Given the description of an element on the screen output the (x, y) to click on. 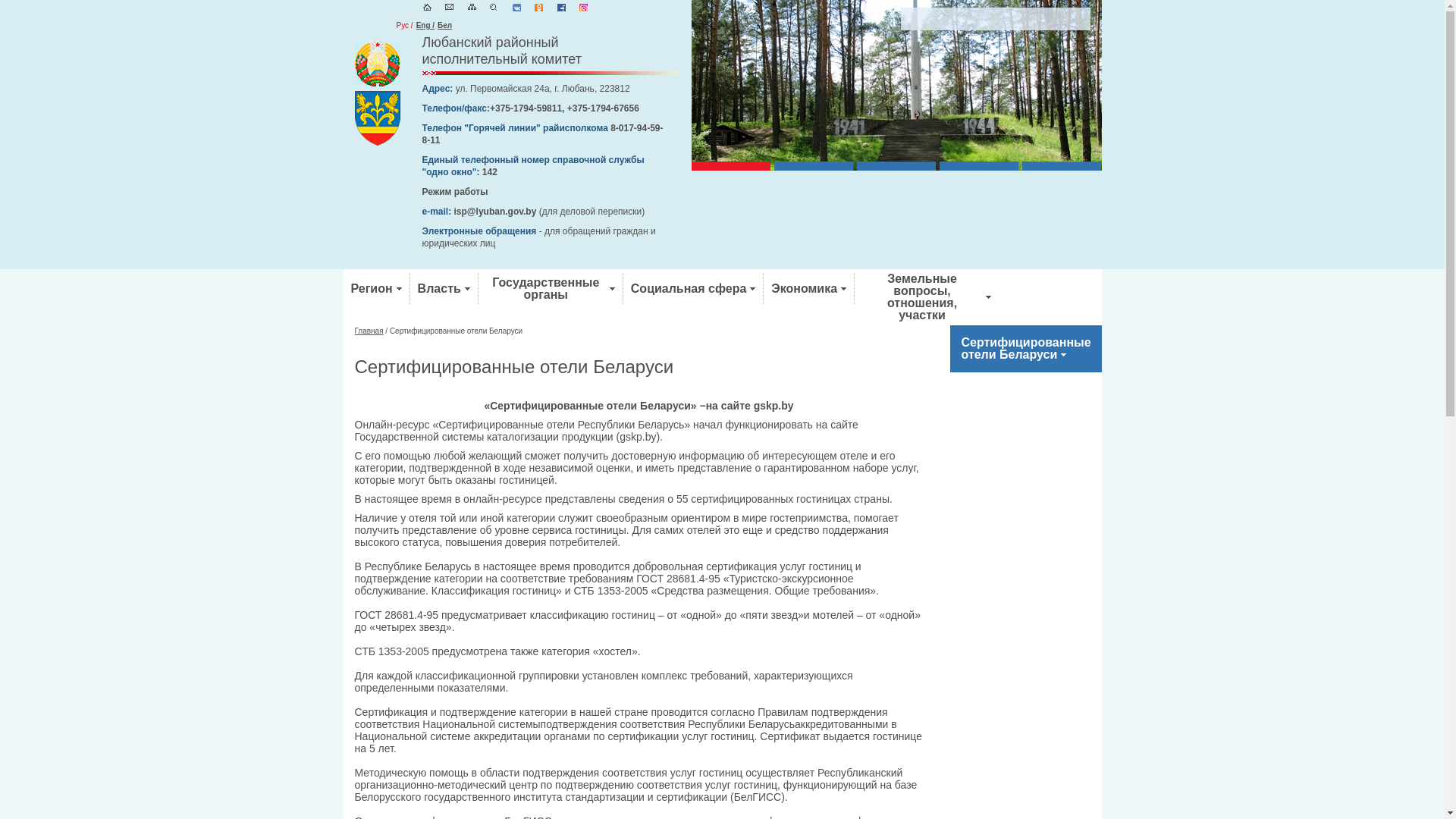
instagram Element type: hover (583, 7)
+375-1794-59811 Element type: text (525, 108)
142 Element type: text (489, 171)
ok Element type: hover (538, 7)
facebook Element type: hover (561, 7)
isp@lyuban.gov.by Element type: text (495, 211)
Eng / Element type: text (425, 25)
+375-1794-67656 Element type: text (603, 108)
vk Element type: hover (516, 7)
8-017-94-59-8-11 Element type: text (541, 133)
